Given the description of an element on the screen output the (x, y) to click on. 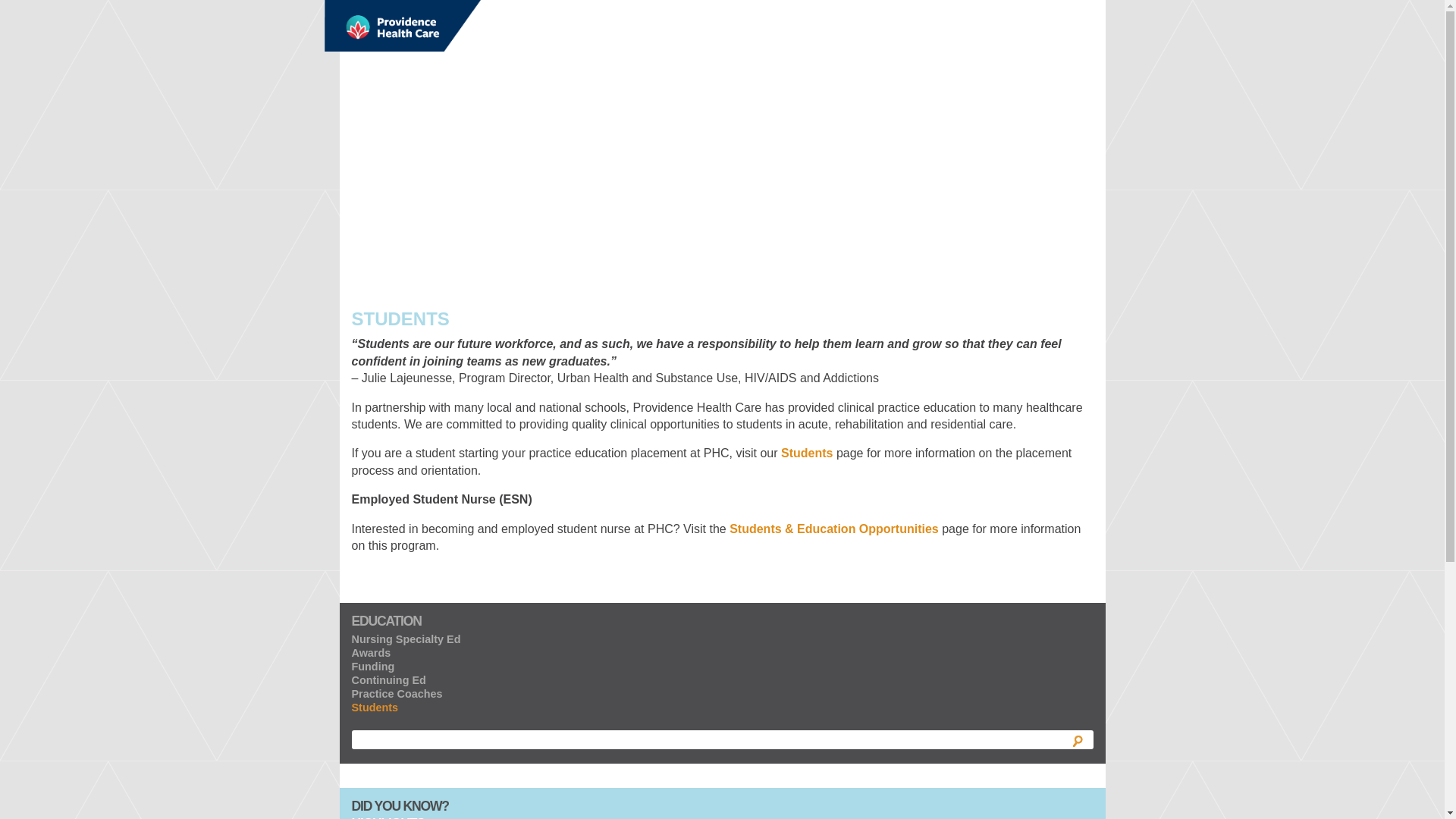
Professional Practice (402, 25)
Home (402, 25)
Search (1077, 741)
Enter the terms you wish to search for. (722, 739)
